Given the description of an element on the screen output the (x, y) to click on. 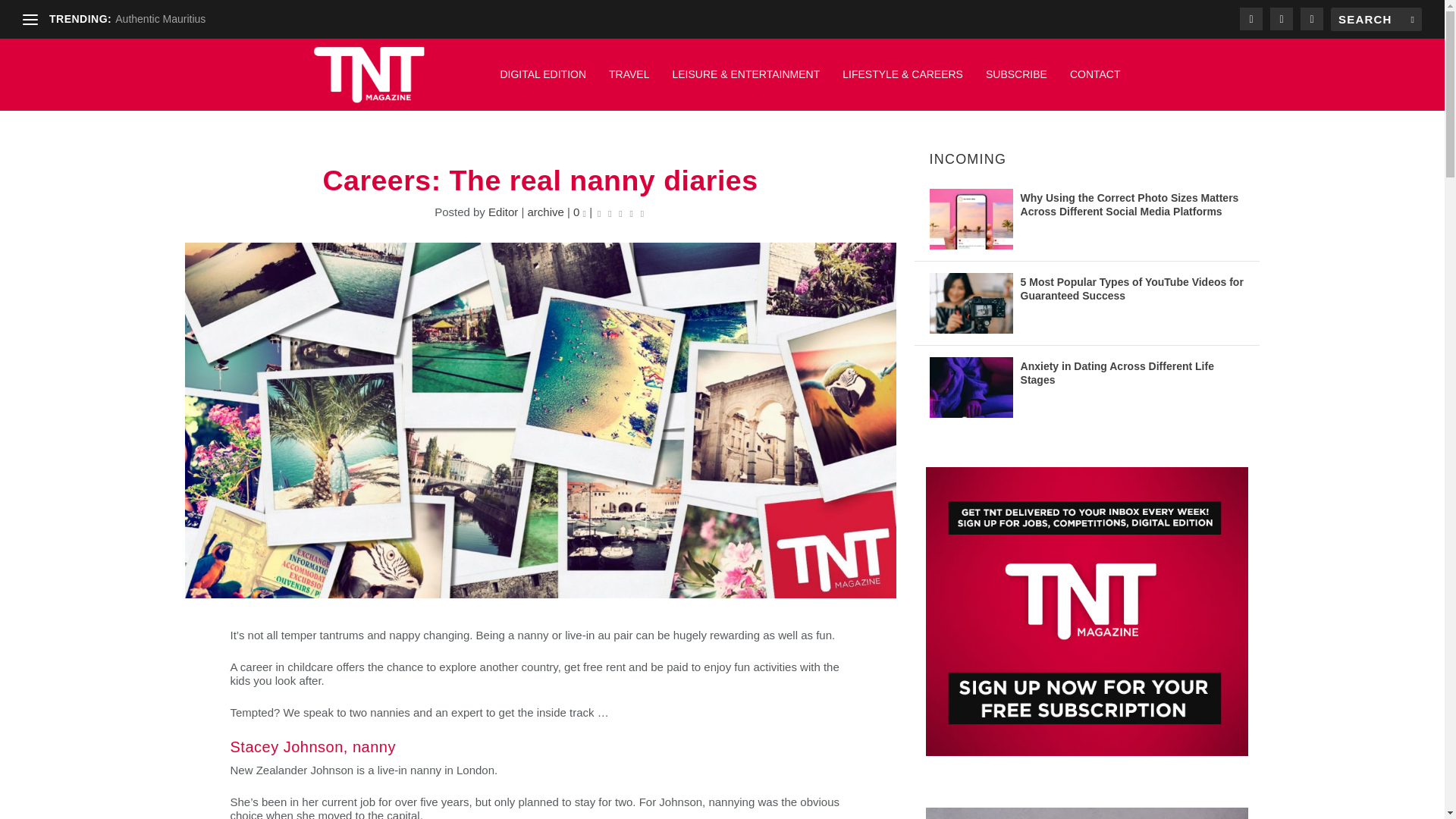
Rating: 0.00 (620, 212)
0 (579, 211)
Posts by Editor (502, 211)
DIGITAL EDITION (542, 82)
SUBSCRIBE (1015, 82)
Authentic Mauritius (160, 19)
Editor (502, 211)
archive (545, 211)
Search for: (1376, 19)
